Given the description of an element on the screen output the (x, y) to click on. 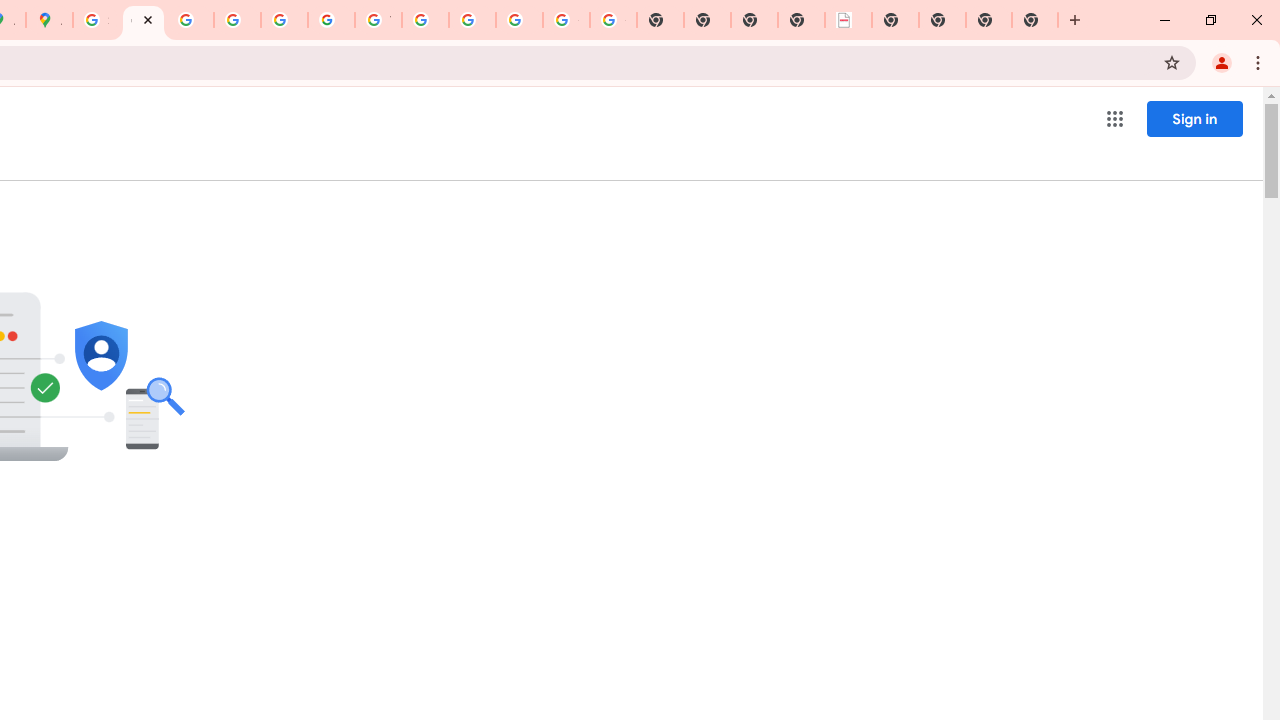
New Tab (989, 20)
YouTube (377, 20)
Privacy Help Center - Policies Help (189, 20)
